Given the description of an element on the screen output the (x, y) to click on. 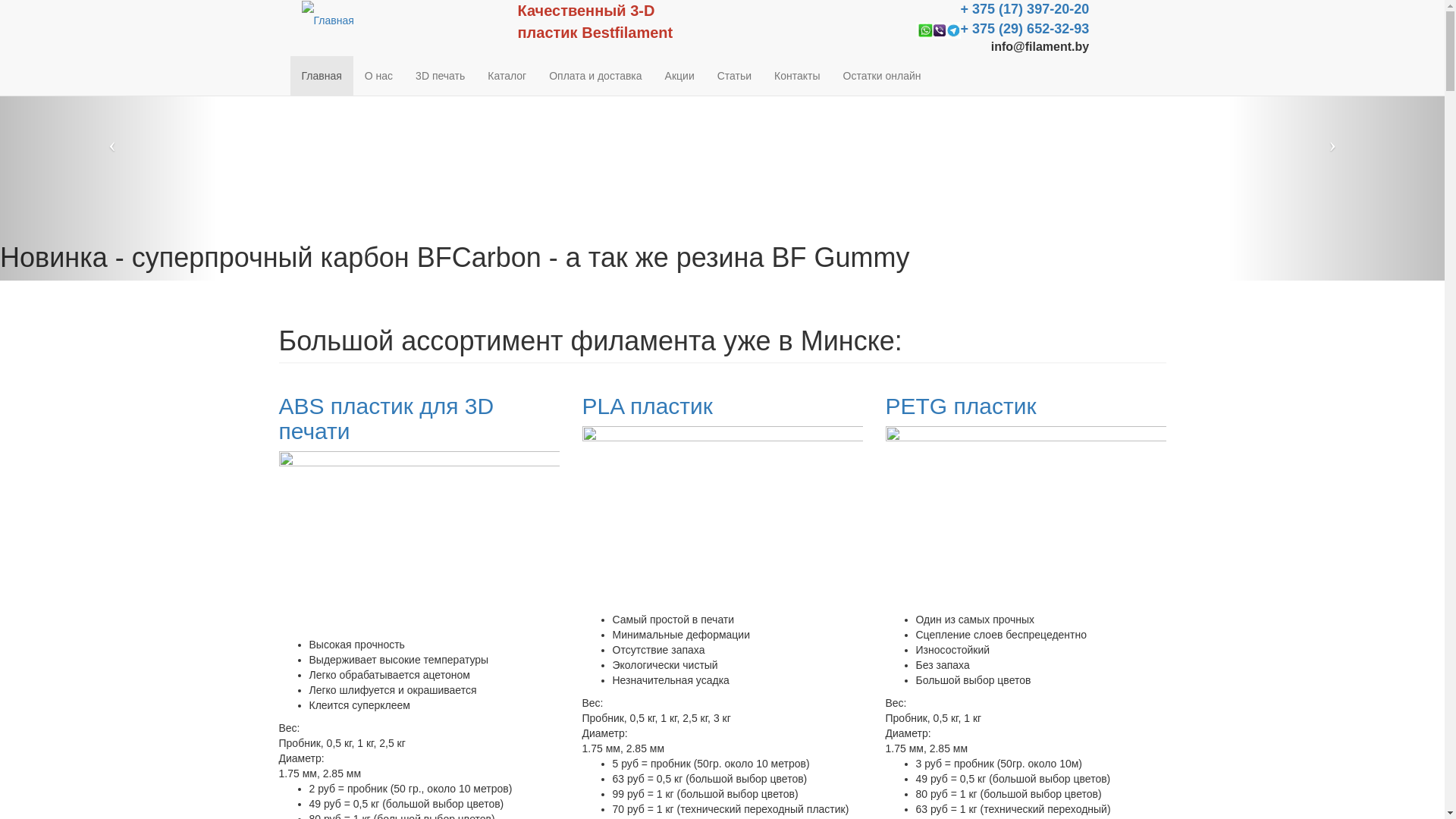
+ 375 (29) 652-32-93 Element type: text (1024, 29)
+ 375 (17) 397-20-20 Element type: text (1024, 9)
